Given the description of an element on the screen output the (x, y) to click on. 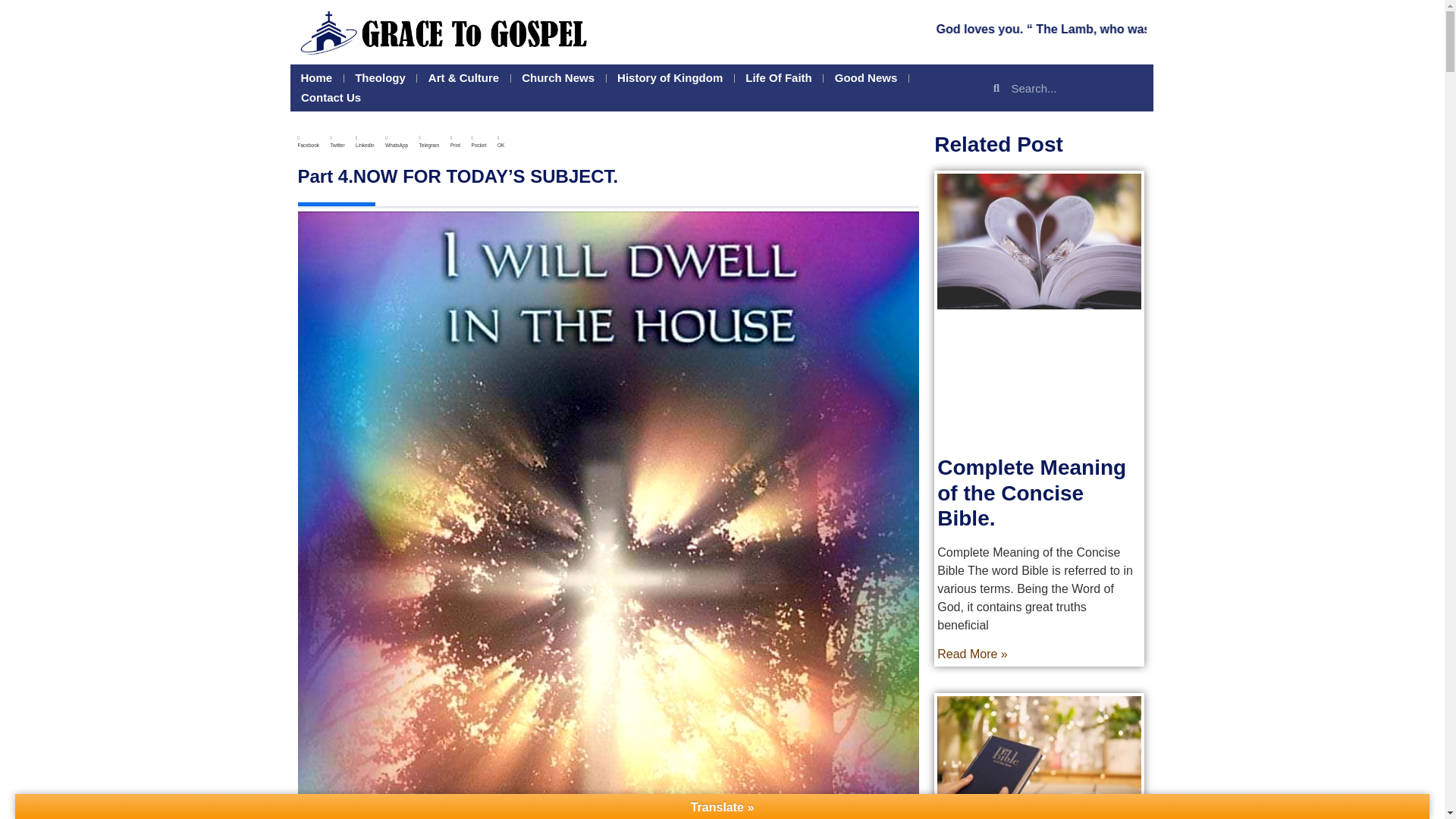
Life Of Faith (778, 77)
Church News (558, 77)
History of Kingdom (670, 77)
Theology (379, 77)
Good News (866, 77)
Search (1075, 87)
Contact Us (330, 97)
Home (315, 77)
Complete Meaning of the Concise Bible. (1031, 492)
